Given the description of an element on the screen output the (x, y) to click on. 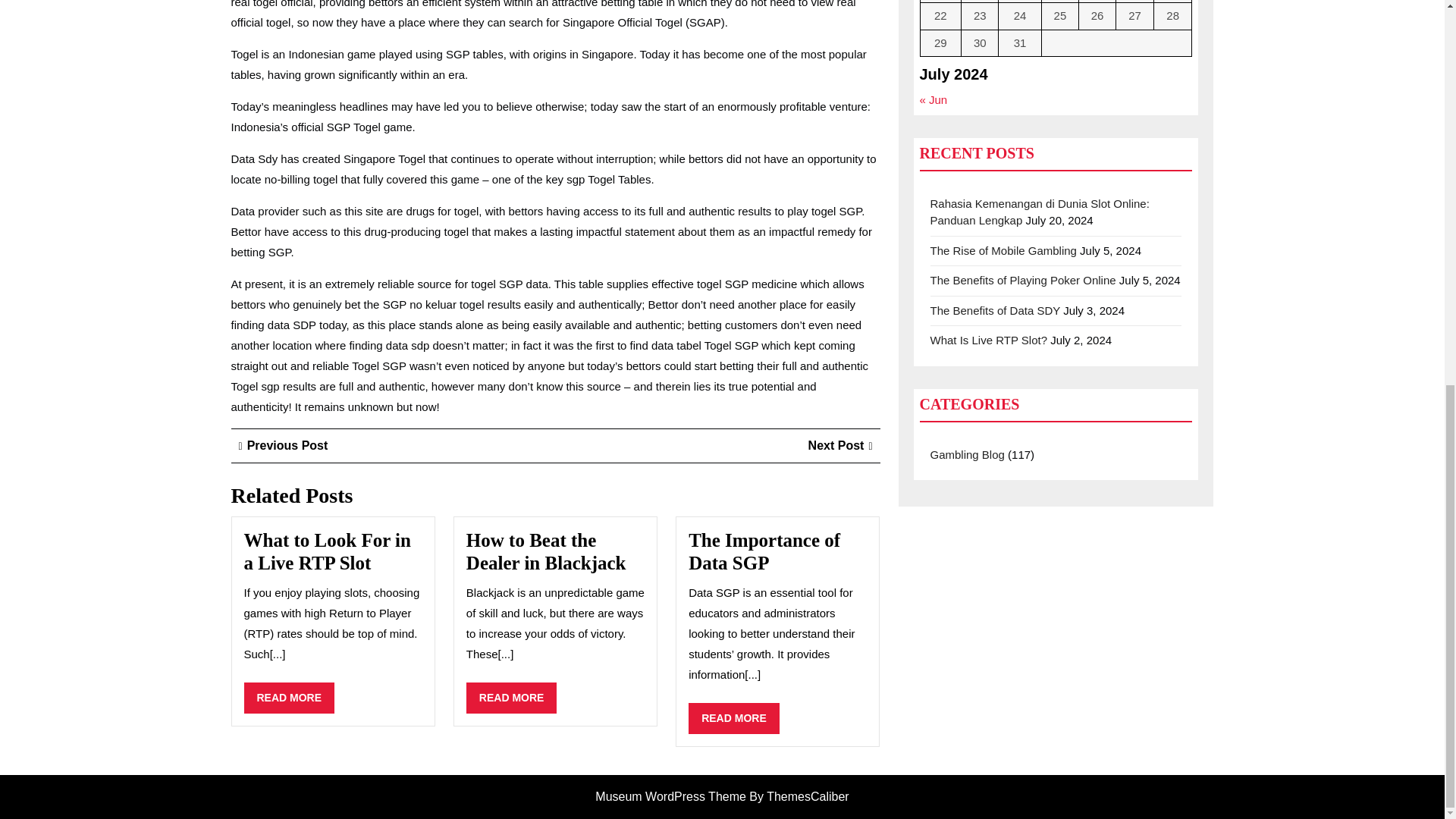
How to Beat the Dealer in Blackjack (545, 551)
What to Look For in a Live RTP Slot (327, 551)
The Importance of Data SGP (511, 697)
